Given the description of an element on the screen output the (x, y) to click on. 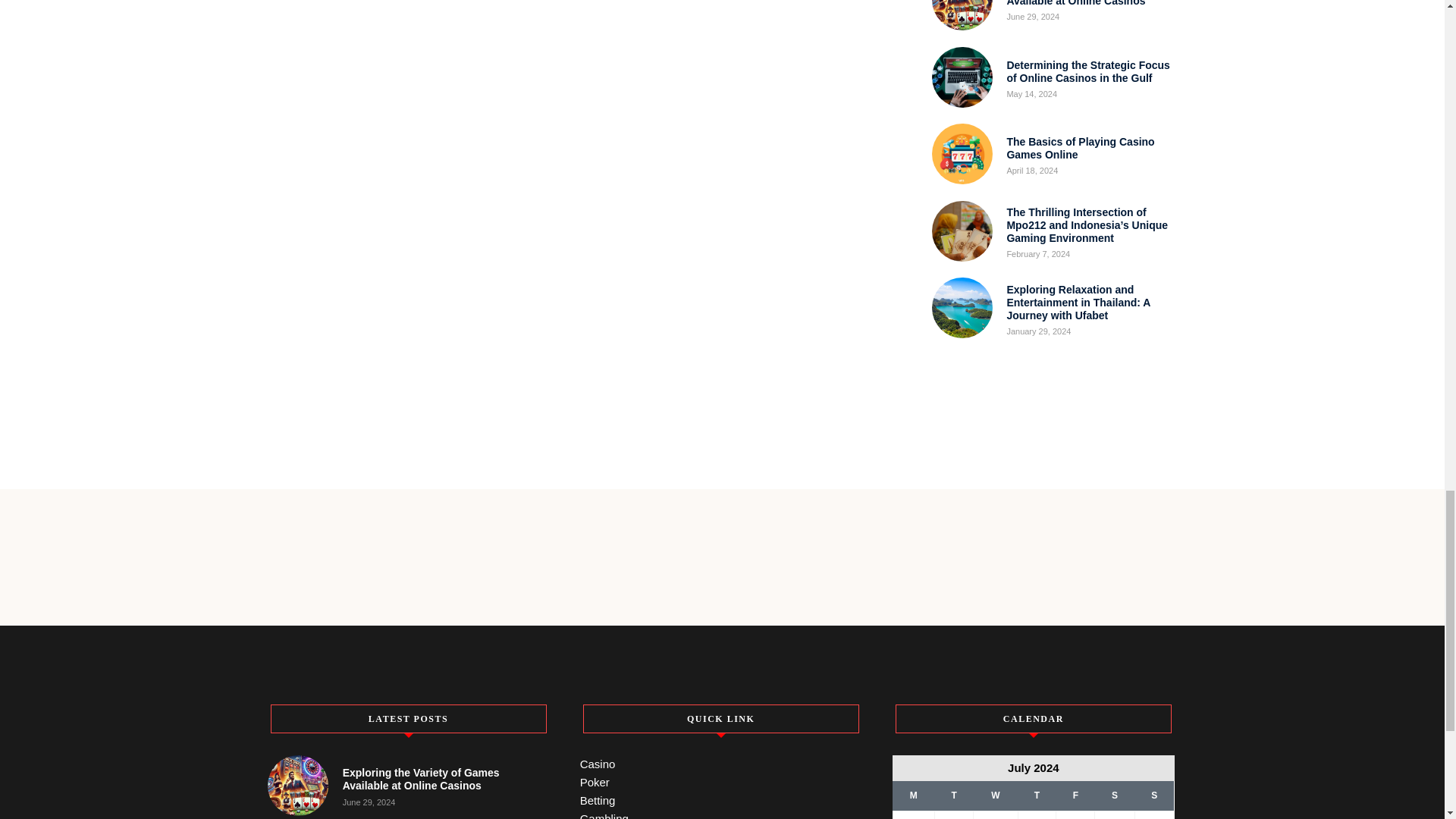
Friday (1075, 796)
Saturday (1114, 796)
Sunday (1153, 796)
Thursday (1037, 796)
Monday (913, 796)
Tuesday (954, 796)
Wednesday (995, 796)
Loretta Reese (339, 1)
